Given the description of an element on the screen output the (x, y) to click on. 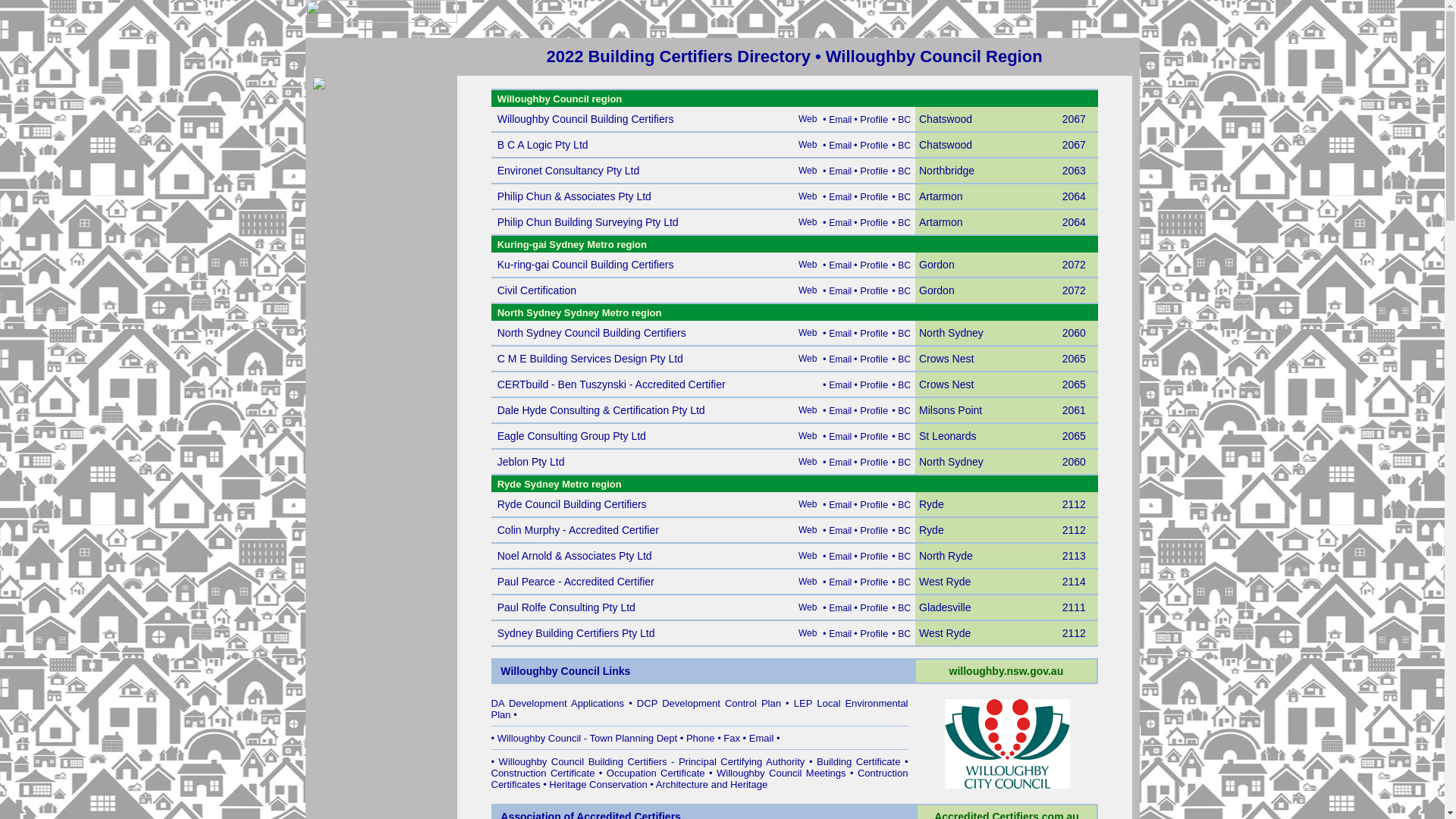
Gladesville Element type: text (944, 607)
Chatswood Element type: text (945, 119)
Building Certificate Element type: text (858, 761)
North Sydney Element type: text (951, 461)
West Ryde Element type: text (944, 633)
willoughby.nsw.gov.au Element type: text (1006, 671)
Sort by Name Element type: text (529, 81)
North Ryde Element type: text (945, 555)
Email Element type: text (761, 737)
DCP Development Control Plan Element type: text (709, 703)
Fax Element type: text (731, 737)
Milsons Point Element type: text (950, 410)
Architecture and Heritage Element type: text (711, 784)
Ryde Element type: text (931, 504)
Crows Nest Element type: text (946, 358)
Artarmon Element type: text (941, 222)
LEP Local Environmental Plan Element type: text (699, 708)
Willoughby Council - Town Planning Dept Element type: text (587, 737)
Phone Element type: text (700, 737)
Sort PC Element type: text (1077, 81)
North Sydney Sydney Metro region Element type: text (579, 311)
Willoughby Council Meetings Element type: text (781, 772)
St Leonards Element type: text (947, 436)
Occupation Certificate Element type: text (655, 772)
Sort by Suburb Element type: text (951, 81)
Ryde Sydney Metro region Element type: text (559, 483)
North Sydney Element type: text (951, 332)
Willoughby Council Links Element type: text (565, 671)
Contruction Certificates Element type: text (699, 778)
Artarmon Element type: text (941, 196)
Gordon Element type: text (936, 264)
DA Development Applications Element type: text (557, 703)
West Ryde Element type: text (944, 581)
Gordon Element type: text (936, 290)
Northbridge Element type: text (946, 170)
Construction Certificate Element type: text (543, 772)
Crows Nest Element type: text (946, 384)
Kuring-gai Sydney Metro region Element type: text (571, 243)
Willoughby Council region Element type: text (559, 97)
Ryde Element type: text (931, 530)
Chatswood Element type: text (945, 144)
Heritage Conservation Element type: text (597, 784)
